Given the description of an element on the screen output the (x, y) to click on. 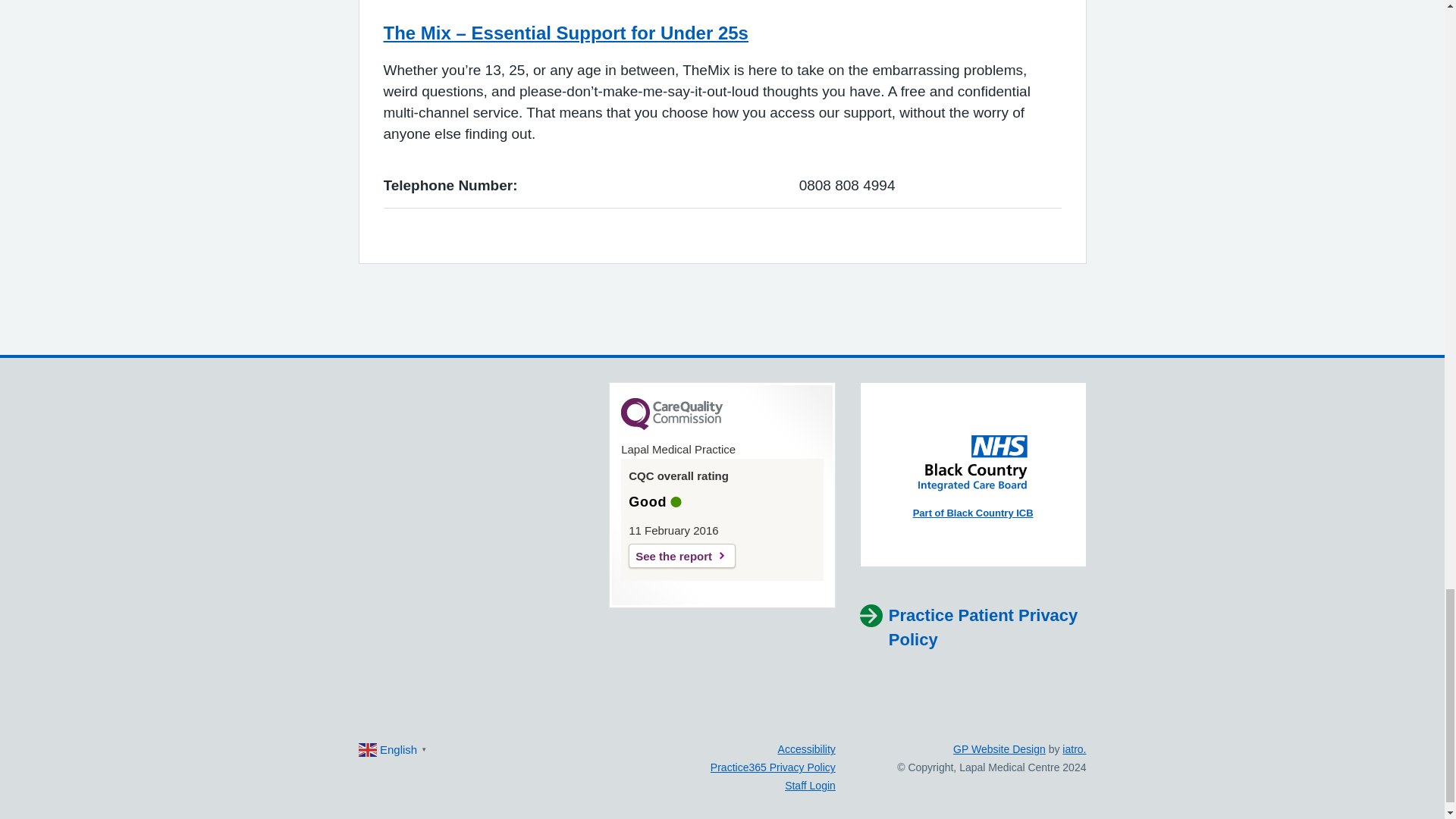
CQC Logo (671, 426)
Part of Black Country ICB (972, 512)
Practice Patient Privacy Policy (973, 627)
See the report (681, 555)
